Given the description of an element on the screen output the (x, y) to click on. 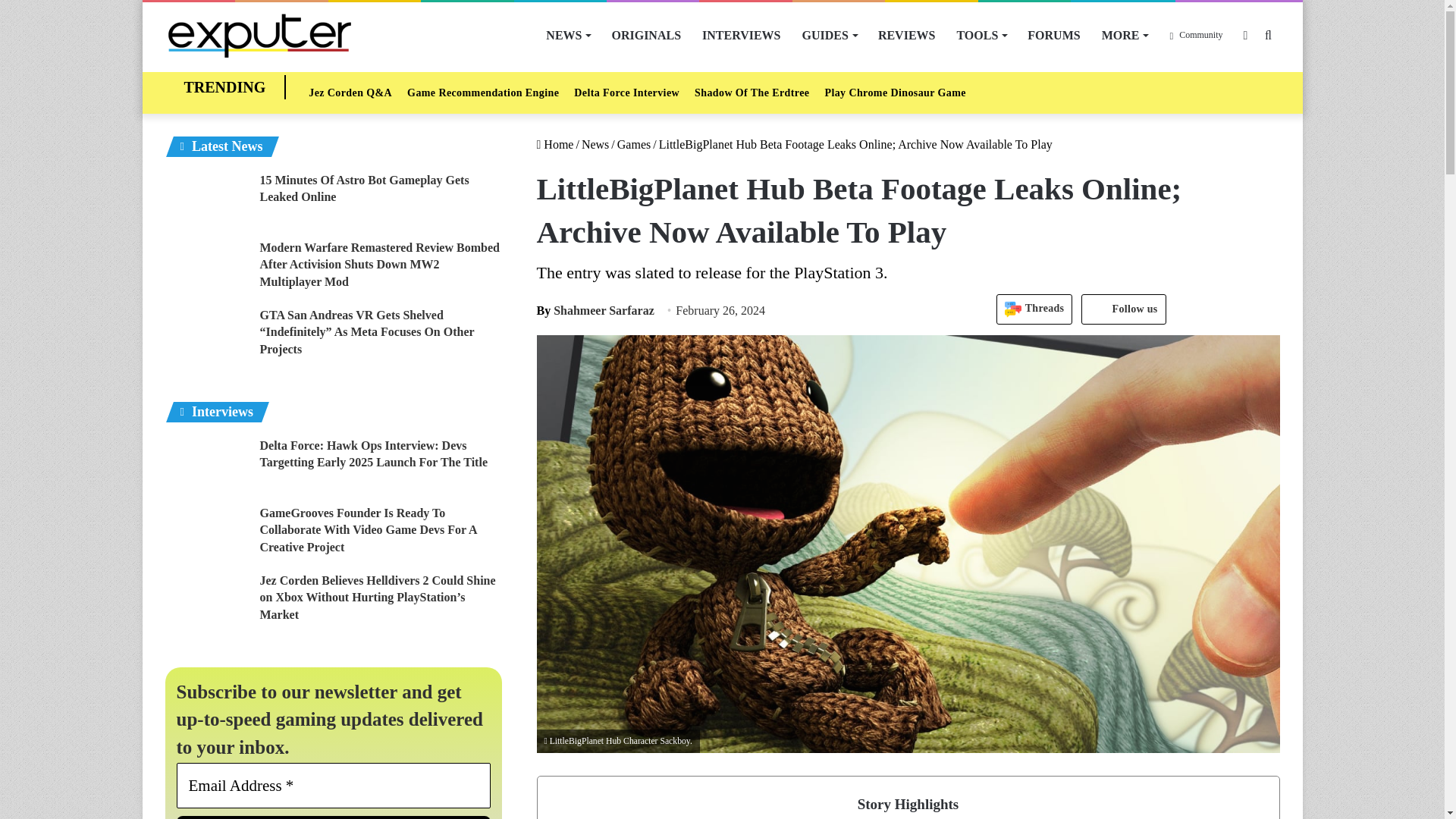
ORIGINALS (645, 35)
Email Address (333, 785)
INTERVIEWS (740, 35)
Shahmeer Sarfaraz (595, 309)
TOOLS (980, 35)
eXputer.com (259, 34)
GUIDES (829, 35)
REVIEWS (906, 35)
MORE (1124, 35)
